Given the description of an element on the screen output the (x, y) to click on. 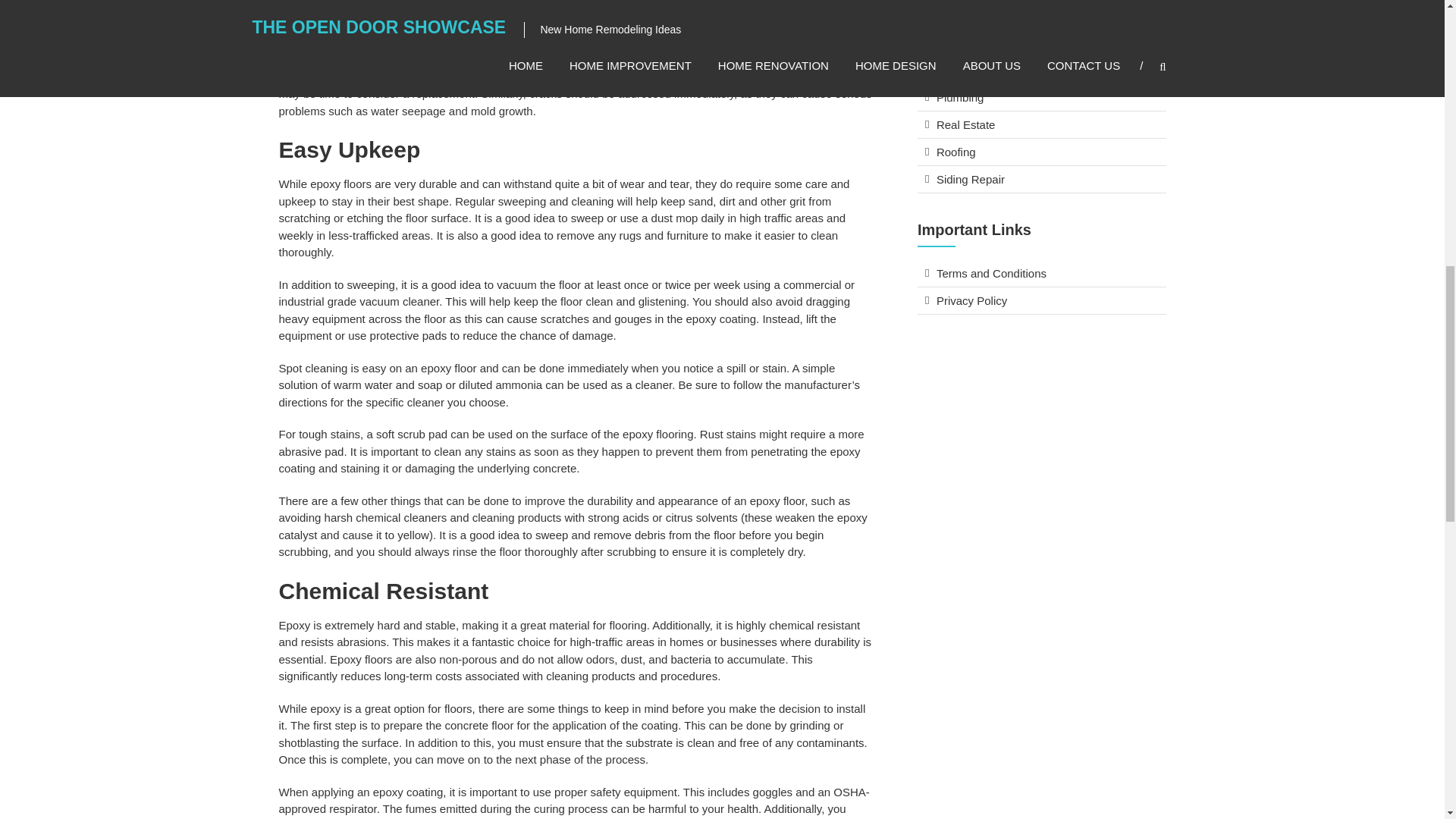
Terms and Conditions (991, 273)
Dock Building (971, 15)
Real Estate (965, 124)
Home Improvement (986, 42)
Siding Repair (970, 178)
Privacy Policy (971, 300)
Roofing (955, 151)
Junk Removal (972, 69)
Plumbing (960, 97)
